Given the description of an element on the screen output the (x, y) to click on. 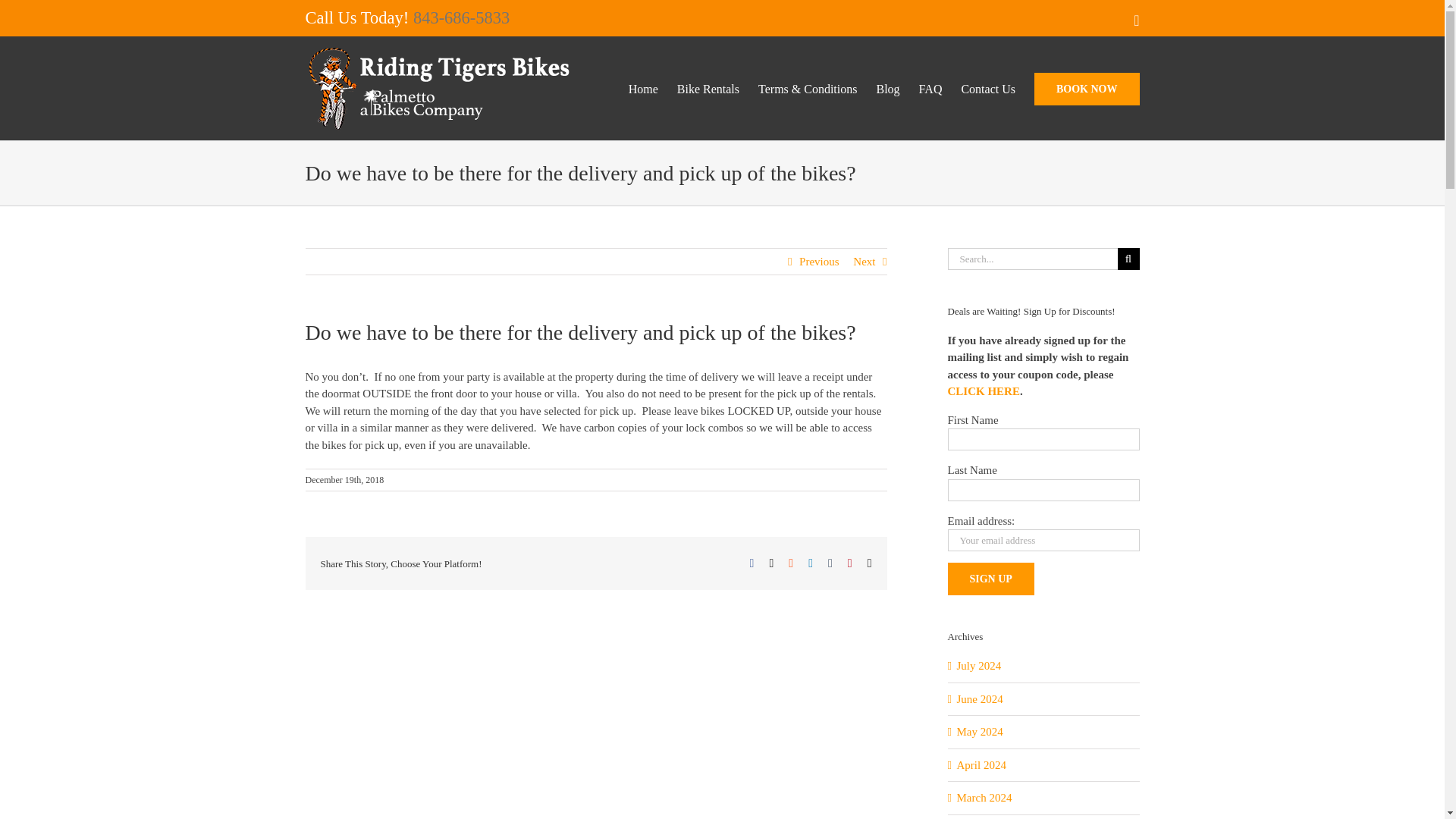
BOOK NOW (1086, 87)
Sign up (990, 578)
July 2024 (978, 665)
April 2024 (981, 765)
June 2024 (979, 698)
Sign up (990, 578)
Previous (819, 261)
May 2024 (979, 731)
CLICK HERE (983, 390)
March 2024 (983, 797)
843-686-5833 (462, 16)
